Given the description of an element on the screen output the (x, y) to click on. 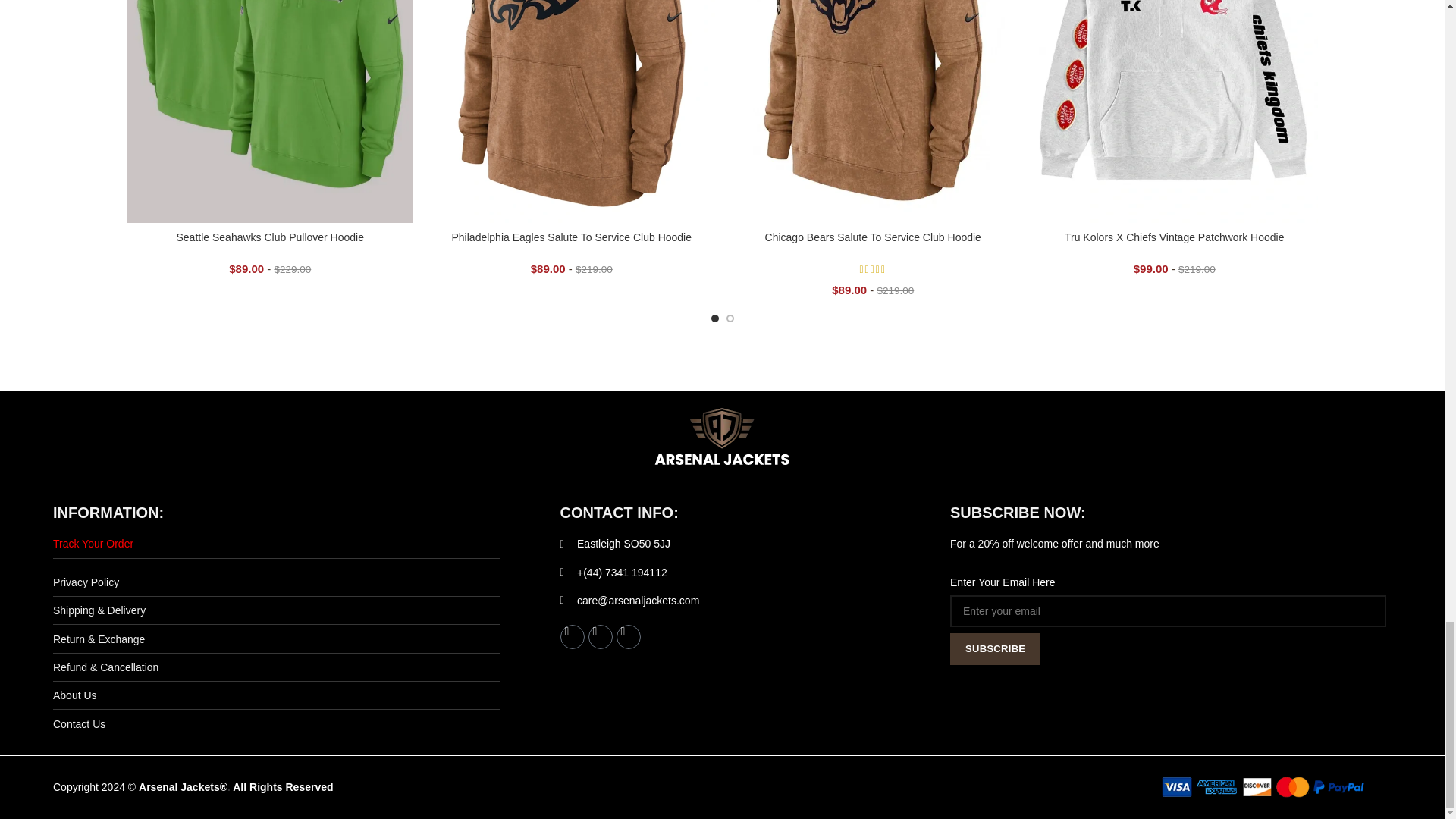
Subscribe (995, 649)
